Given the description of an element on the screen output the (x, y) to click on. 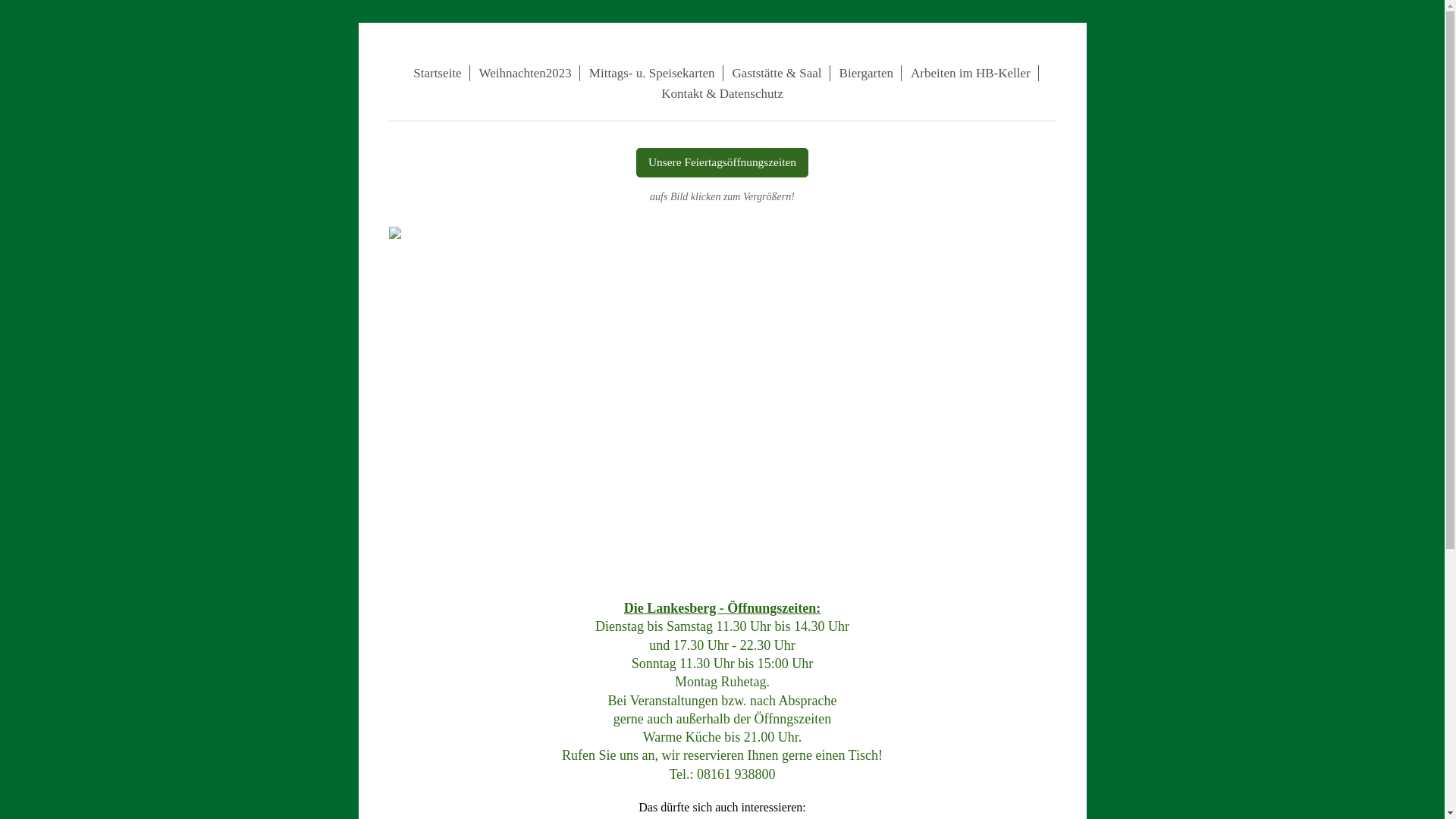
Arbeiten im HB-Keller Element type: text (970, 73)
Startseite Element type: text (437, 73)
Weihnachten2023 Element type: text (525, 73)
Mittags- u. Speisekarten Element type: text (652, 73)
Biergarten Element type: text (866, 73)
Kontakt & Datenschutz Element type: text (721, 93)
